Given the description of an element on the screen output the (x, y) to click on. 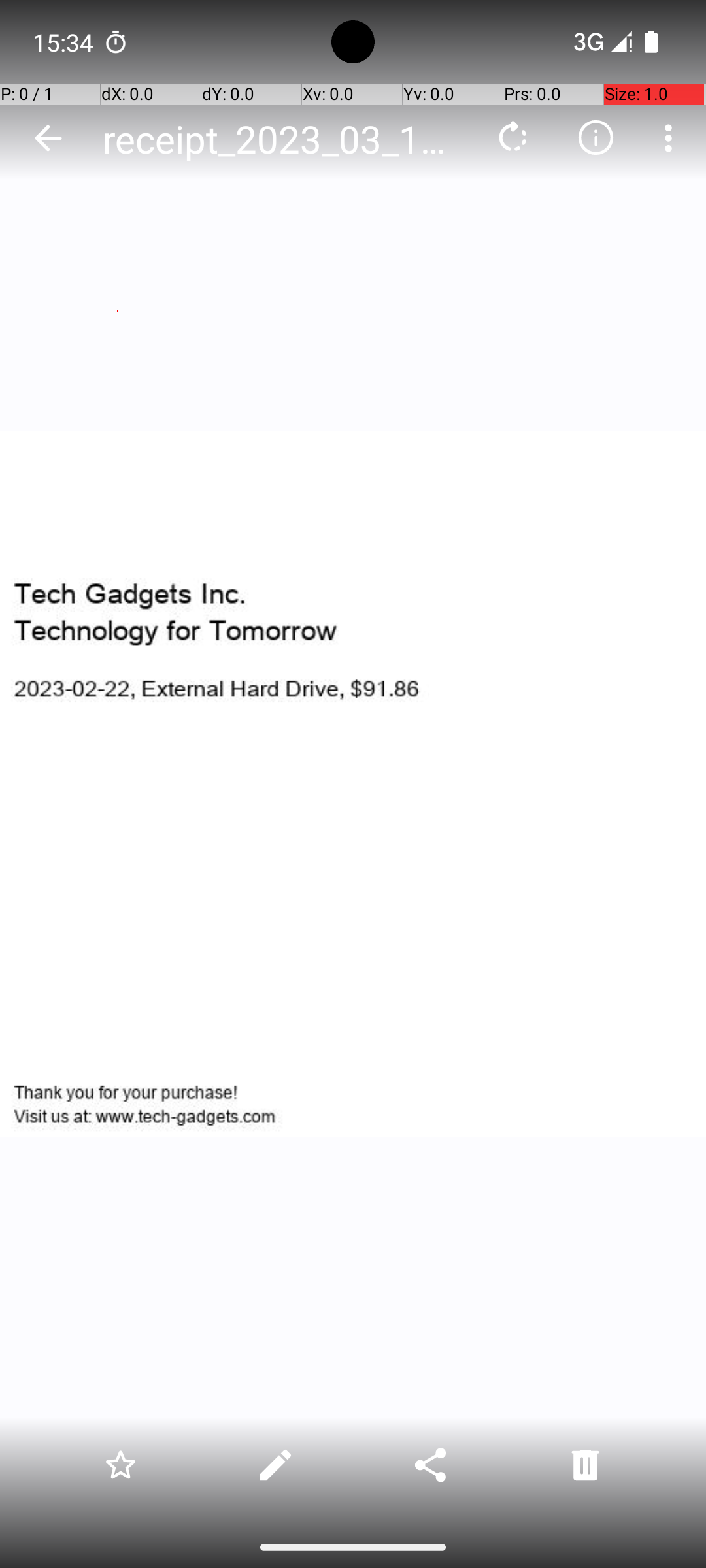
receipt_2023_03_15_pretty_jacket.jpg Element type: android.widget.TextView (283, 138)
Toggle favorite Element type: android.widget.ImageView (120, 1464)
